Given the description of an element on the screen output the (x, y) to click on. 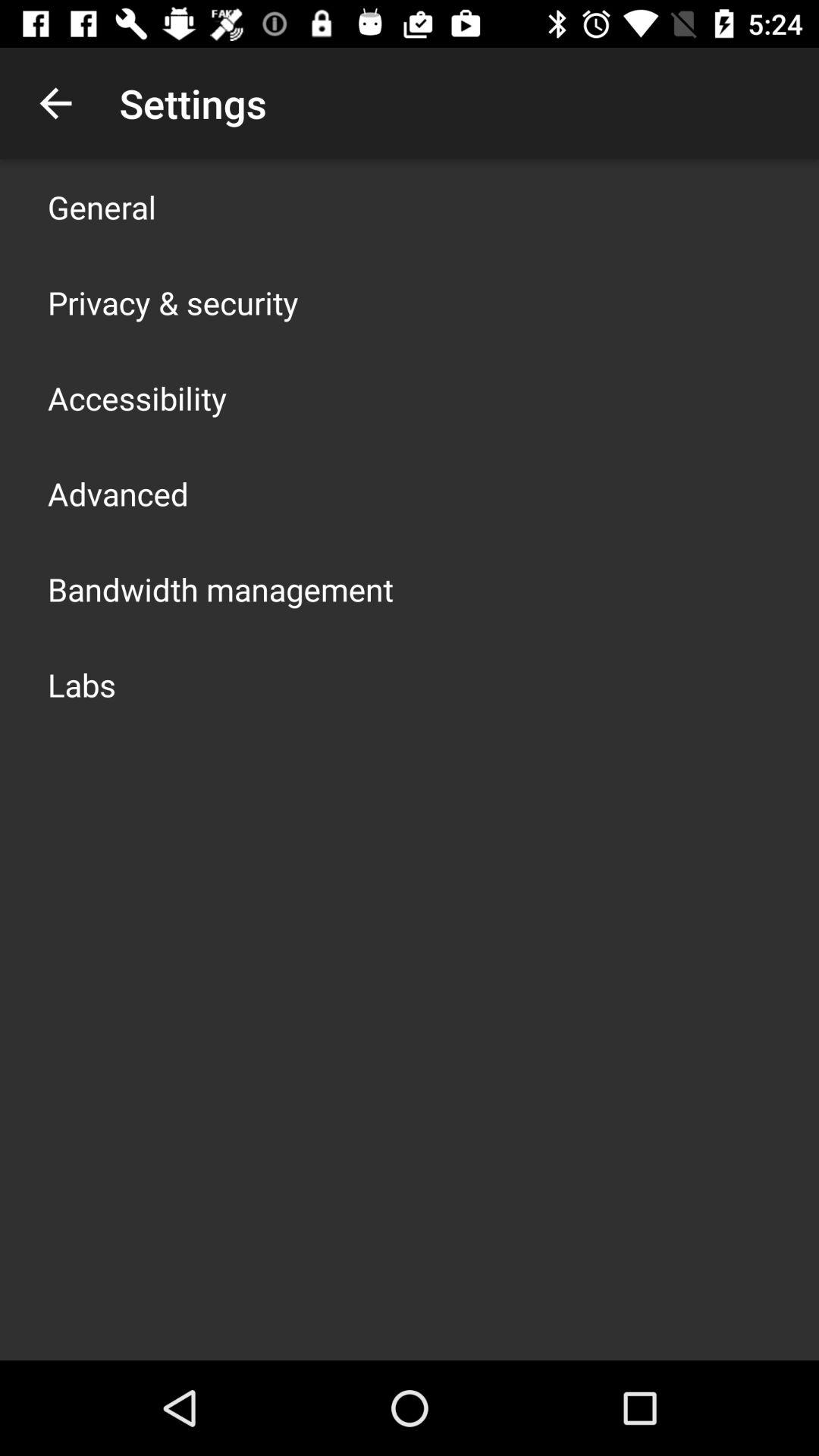
press icon next to settings icon (55, 103)
